Given the description of an element on the screen output the (x, y) to click on. 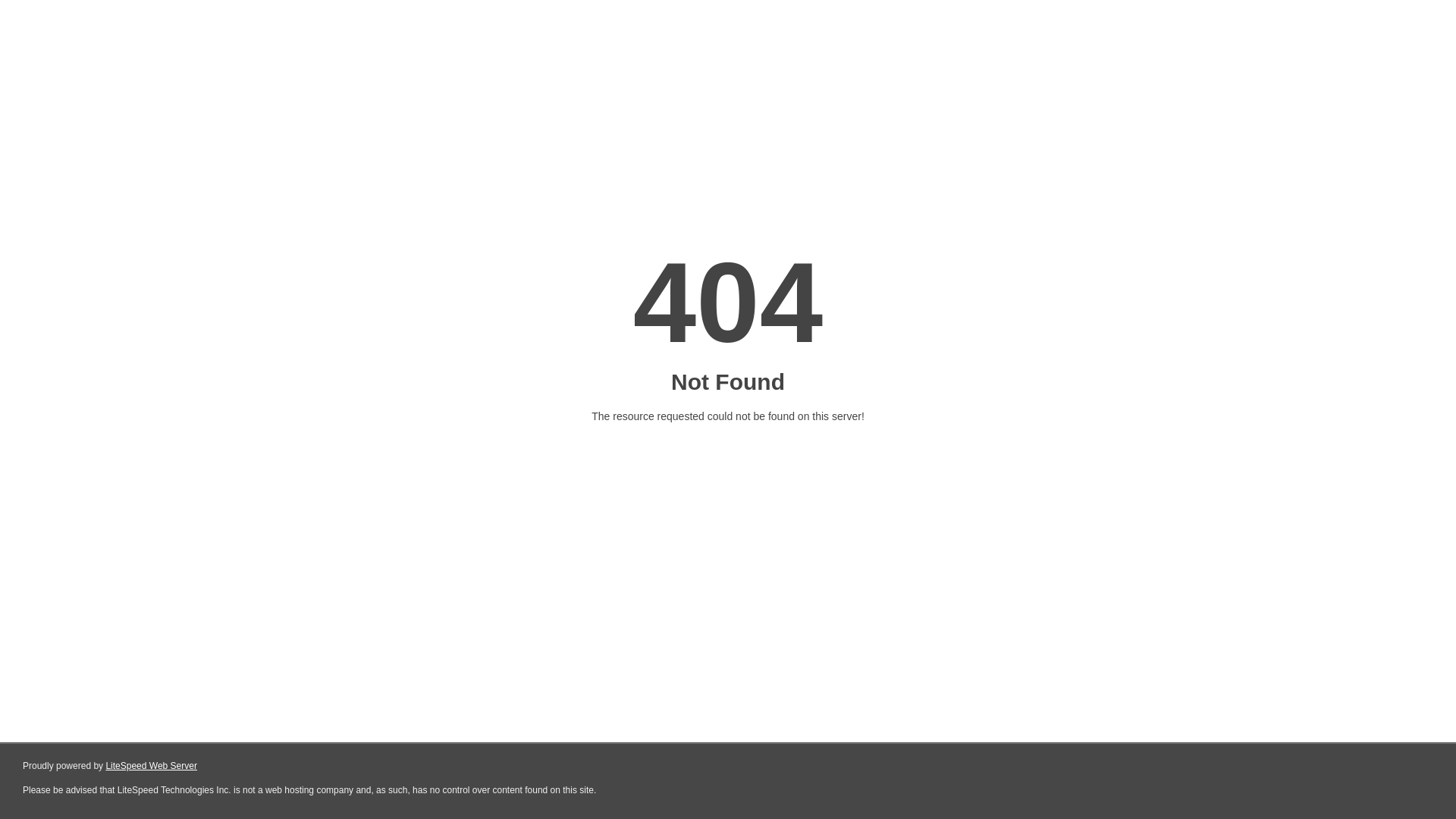
LiteSpeed Web Server Element type: text (151, 765)
